Given the description of an element on the screen output the (x, y) to click on. 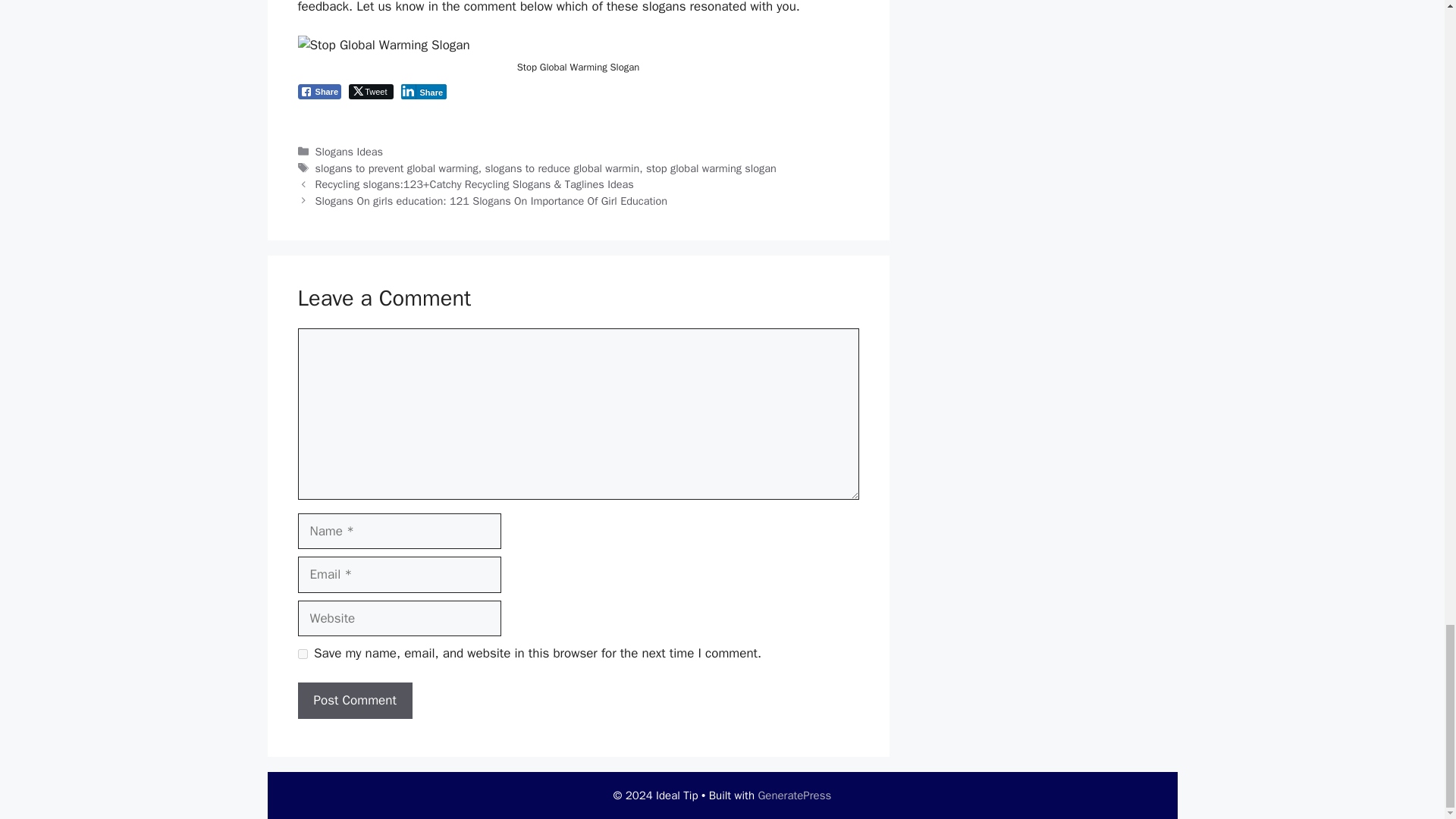
Tweet (371, 91)
Post Comment (354, 700)
Slogans Ideas (348, 151)
Post Comment (354, 700)
GeneratePress (794, 795)
slogans to prevent global warming (397, 168)
stop global warming slogan (711, 168)
yes (302, 654)
slogans to reduce global warmin (561, 168)
Share (423, 91)
Share (318, 91)
